Given the description of an element on the screen output the (x, y) to click on. 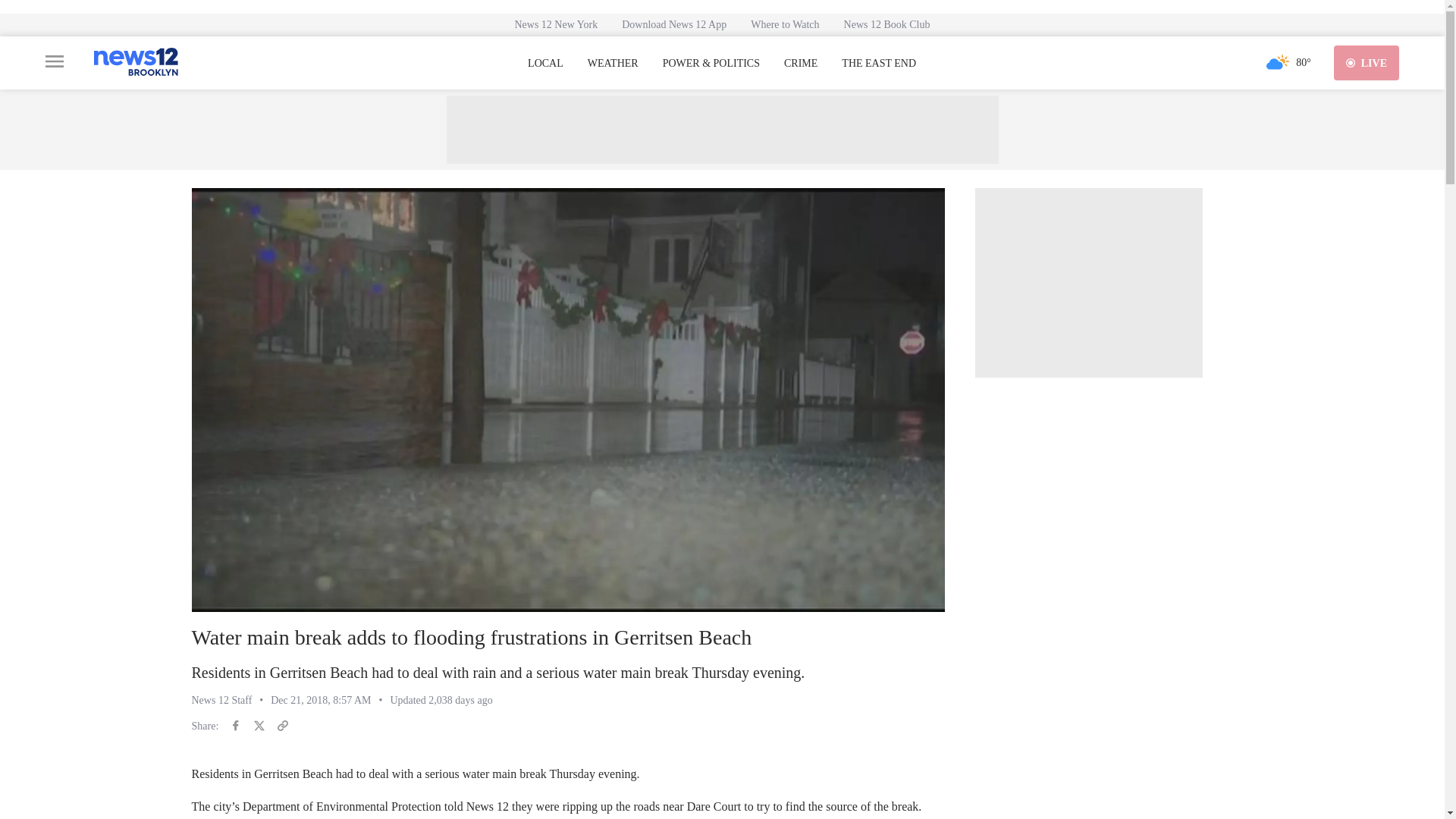
Download News 12 App (673, 24)
Partly Cloudy (1277, 62)
CRIME (800, 63)
WEATHER (613, 63)
THE EAST END (878, 63)
Where to Watch (784, 24)
News 12 New York (556, 24)
LIVE (1366, 62)
News 12 Book Club (886, 24)
LOCAL (545, 63)
